Given the description of an element on the screen output the (x, y) to click on. 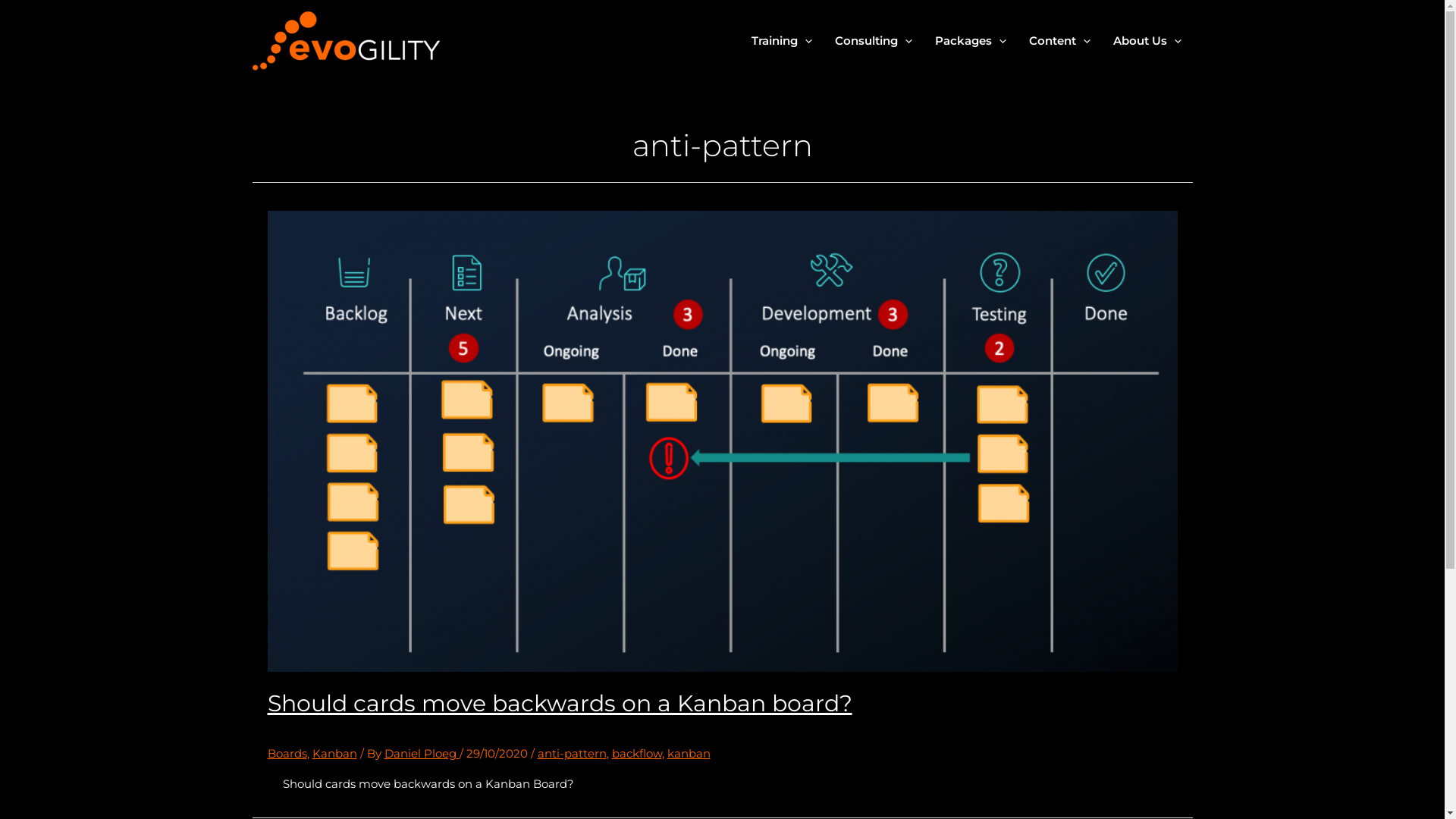
Should cards move backwards on a Kanban board? Element type: text (558, 703)
About Us Element type: text (1146, 40)
Consulting Element type: text (873, 40)
kanban Element type: text (688, 741)
Training Element type: text (781, 40)
Packages Element type: text (970, 40)
backflow Element type: text (636, 741)
Kanban Element type: text (334, 741)
Content Element type: text (1059, 40)
Boards Element type: text (286, 741)
Daniel Ploeg Element type: text (420, 741)
anti-pattern Element type: text (570, 741)
